Given the description of an element on the screen output the (x, y) to click on. 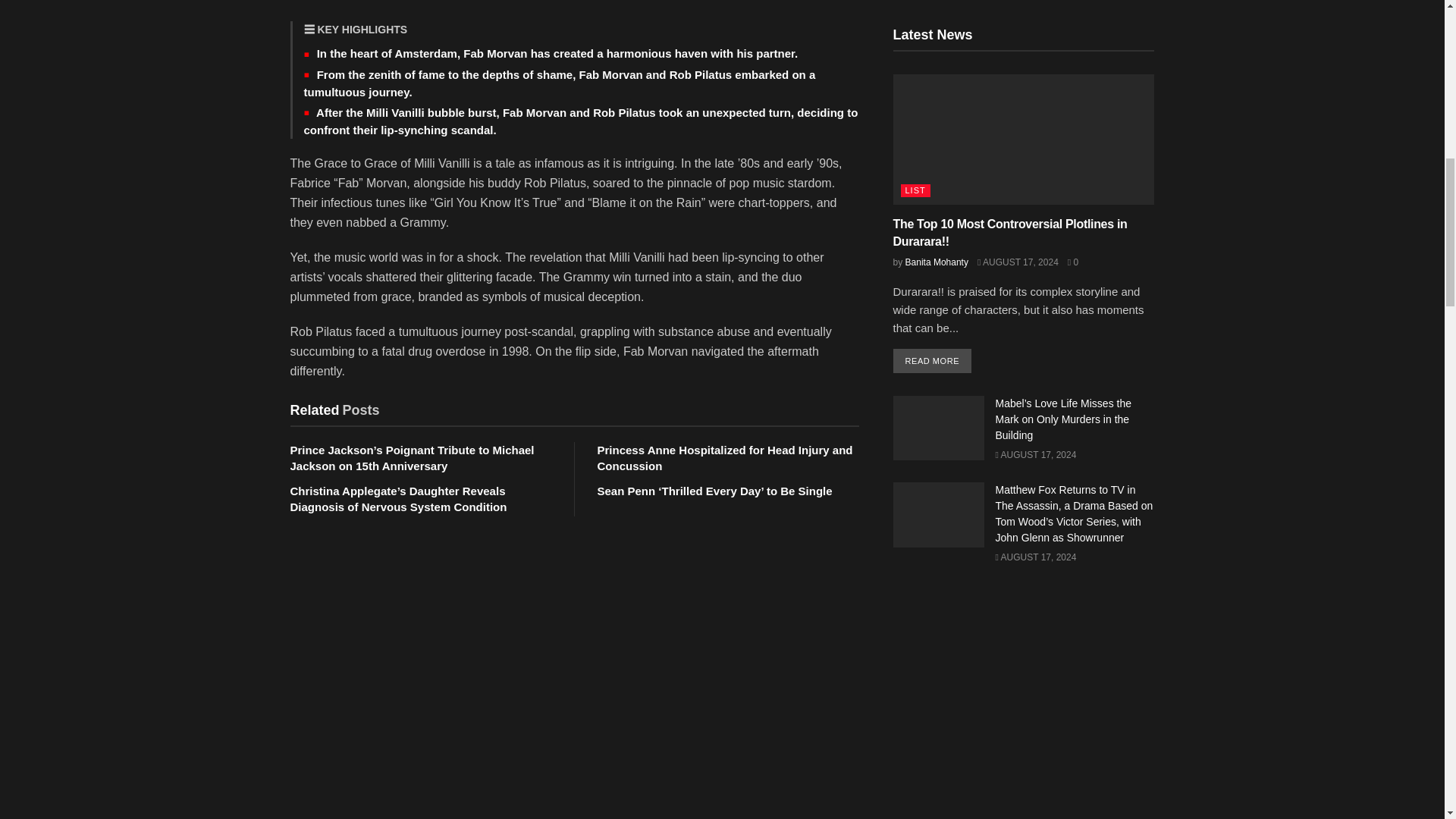
LIST (915, 190)
The Top 10 Most Controversial Plotlines in Durarara!! (1009, 232)
Princess Anne Hospitalized for Head Injury and Concussion (724, 457)
